Given the description of an element on the screen output the (x, y) to click on. 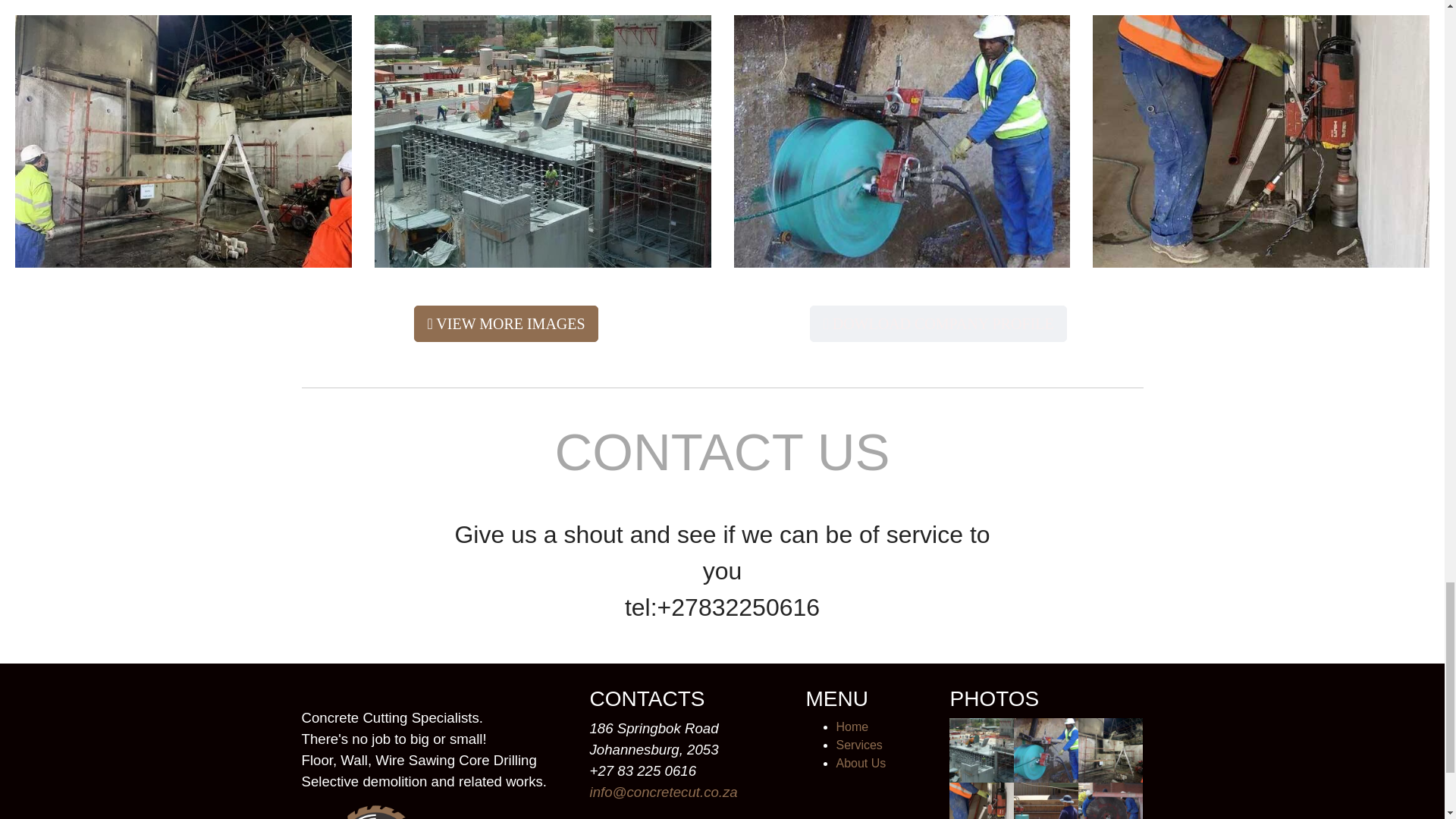
Services (858, 744)
Img E8272 (981, 800)
VIEW MORE IMAGES (504, 323)
Dsc03157 (1045, 800)
Home (851, 726)
Dsc03026 (1110, 800)
Dscf0315 (981, 750)
About Us (860, 762)
DOWLOAD COMPANY PROFILE (937, 323)
Dsc03184 (1045, 750)
Img 7973 (1110, 750)
